Given the description of an element on the screen output the (x, y) to click on. 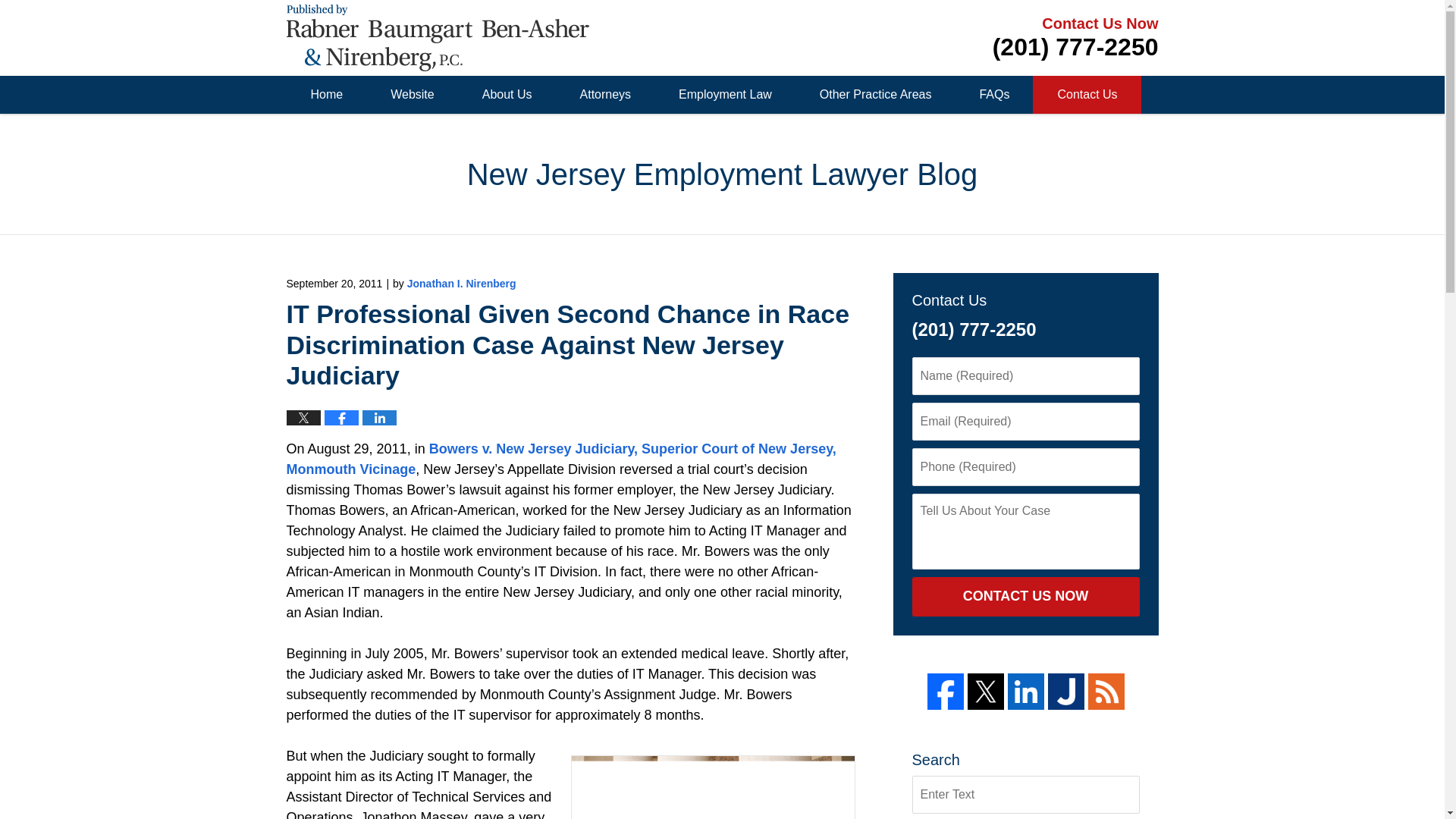
Justia (1066, 691)
Feed (1105, 691)
Contact Us (1086, 94)
Employment Law (723, 94)
CONTACT US NOW (1024, 596)
Facebook (944, 691)
Home (326, 94)
Please enter a valid phone number. (1024, 466)
Twitter (986, 691)
LinkedIn (1025, 691)
About Us (507, 94)
Jonathan I. Nirenberg (461, 283)
Other Practice Areas (874, 94)
FAQs (993, 94)
